Given the description of an element on the screen output the (x, y) to click on. 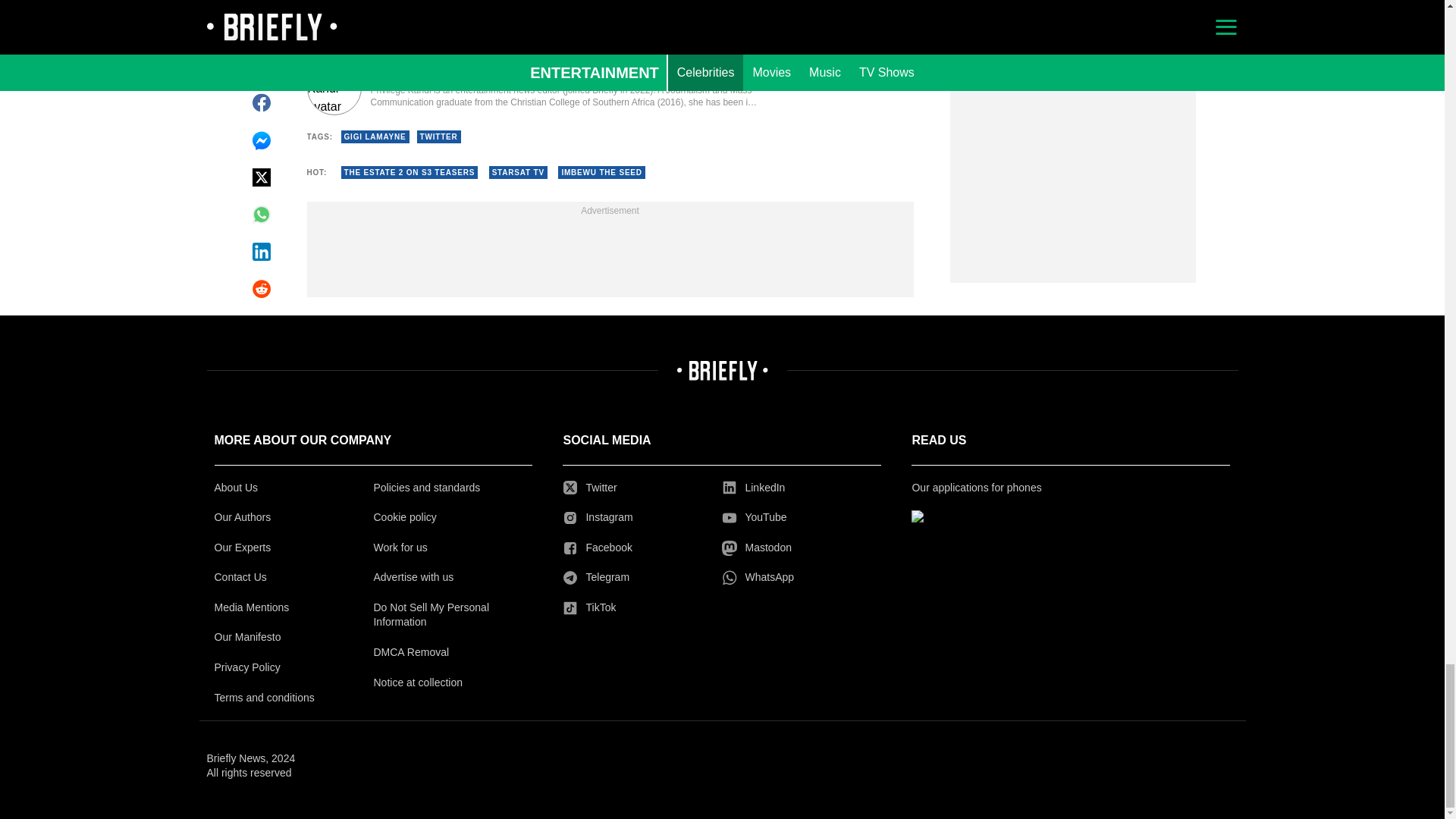
Author page (533, 87)
